Given the description of an element on the screen output the (x, y) to click on. 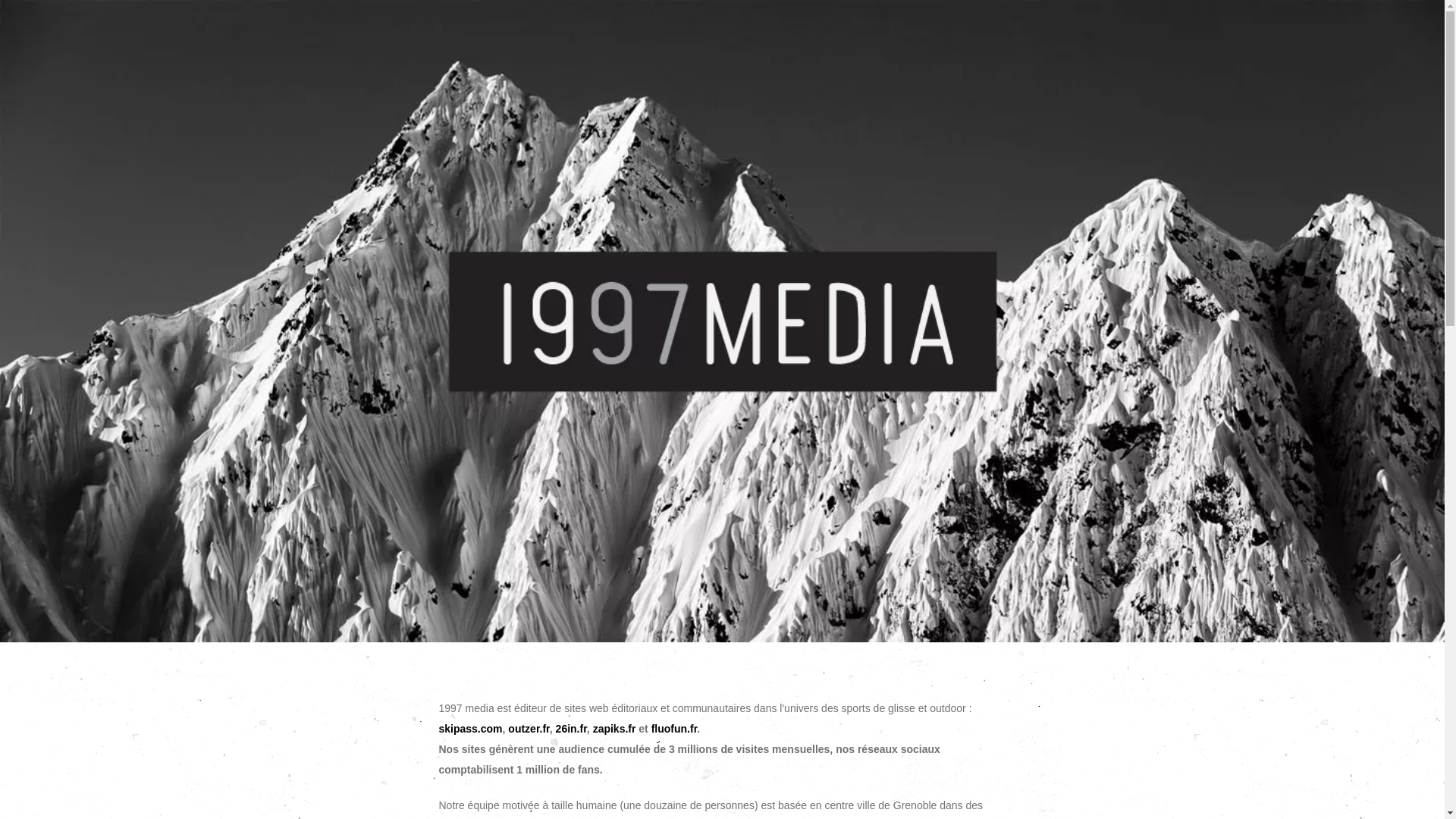
26in.fr Element type: text (570, 728)
fluofun.fr Element type: text (674, 728)
zapiks.fr Element type: text (614, 728)
outzer.fr Element type: text (528, 728)
skipass.com Element type: text (470, 728)
